Given the description of an element on the screen output the (x, y) to click on. 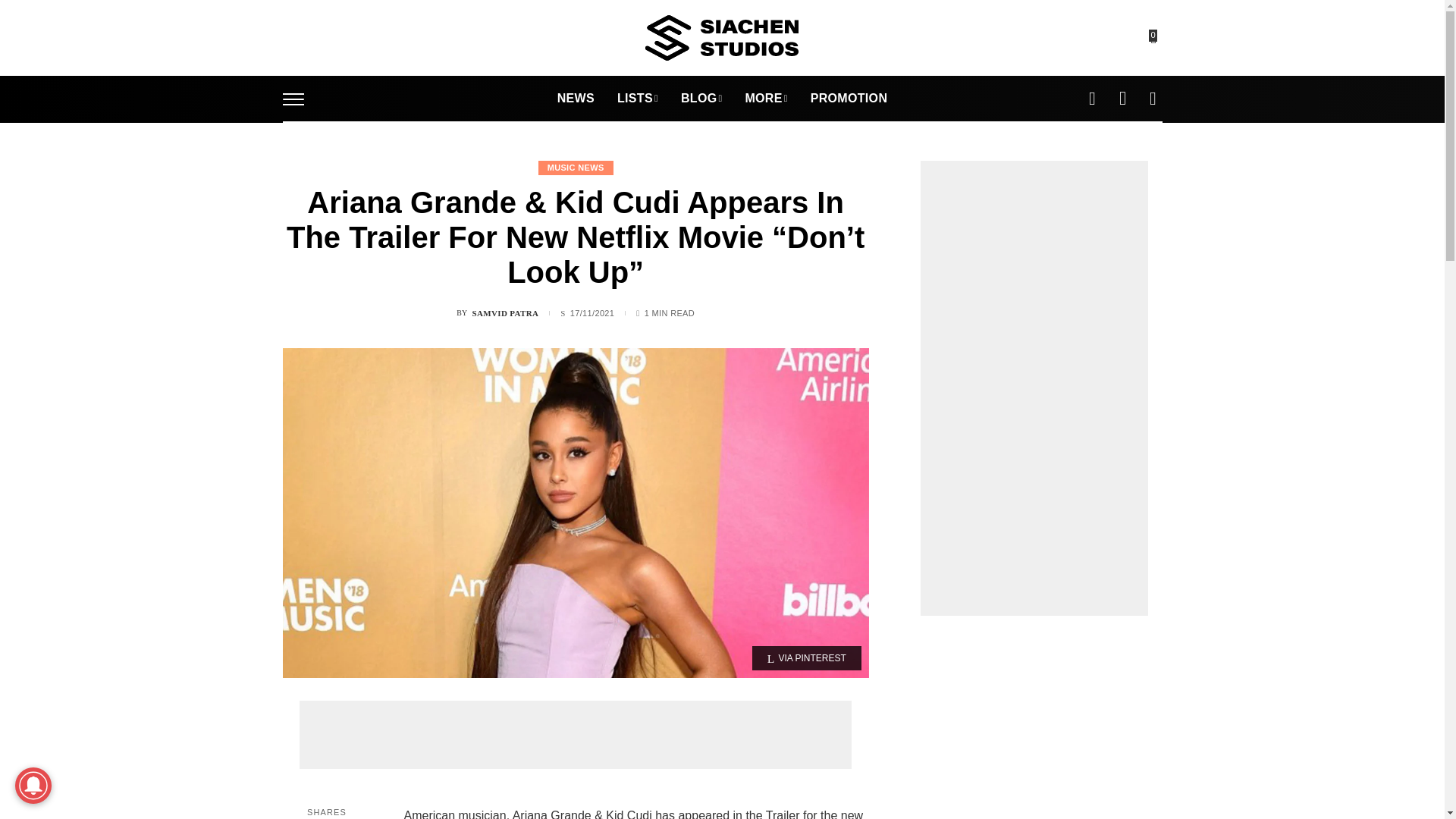
NEWS (575, 98)
LISTS (637, 98)
Siachen Studios (721, 37)
